Given the description of an element on the screen output the (x, y) to click on. 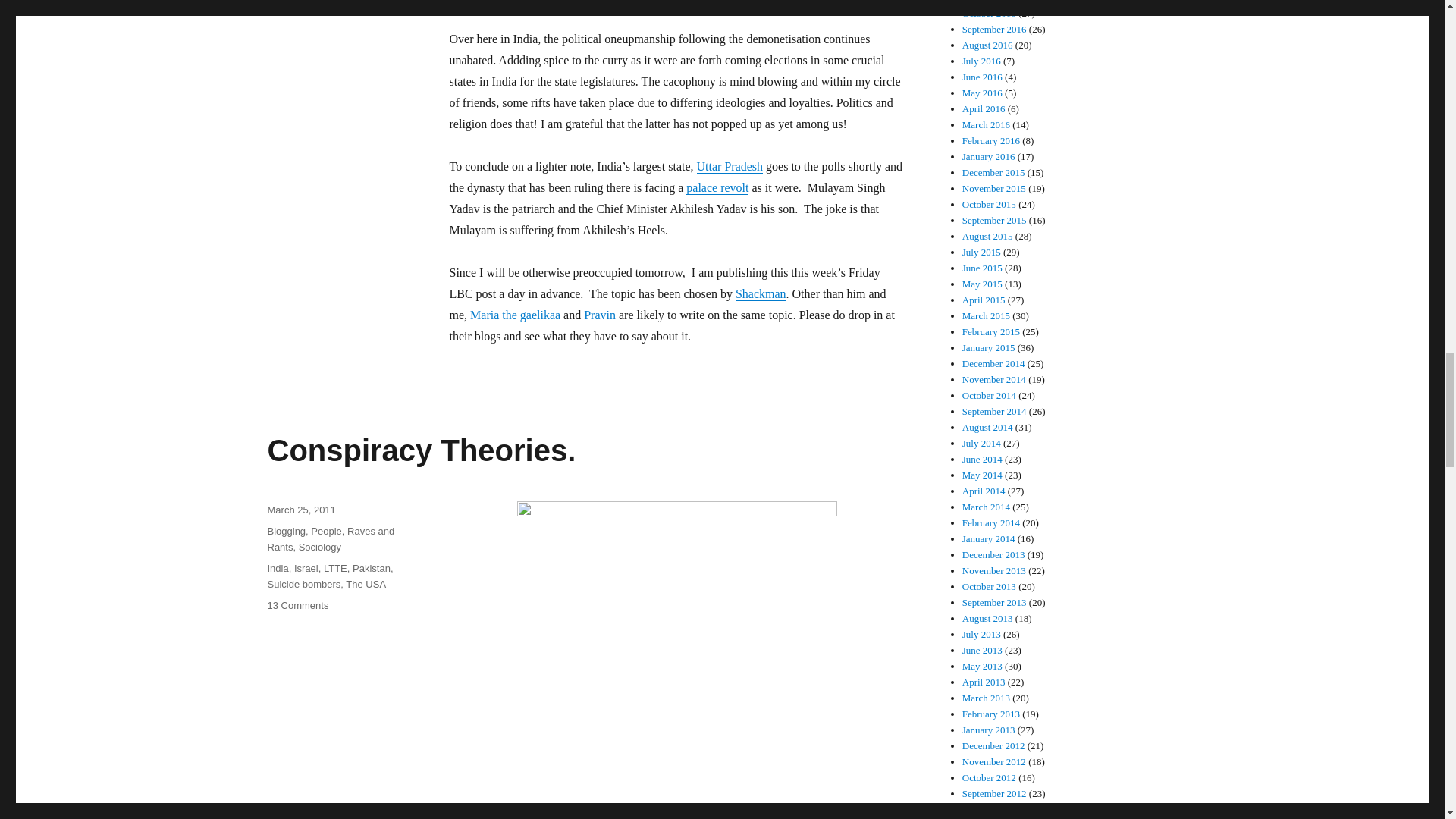
threesome (676, 654)
palace revolt (716, 187)
Uttar Pradesh (729, 165)
Maria the gaelikaa (515, 314)
Pravin (599, 314)
Shackman (760, 293)
